Given the description of an element on the screen output the (x, y) to click on. 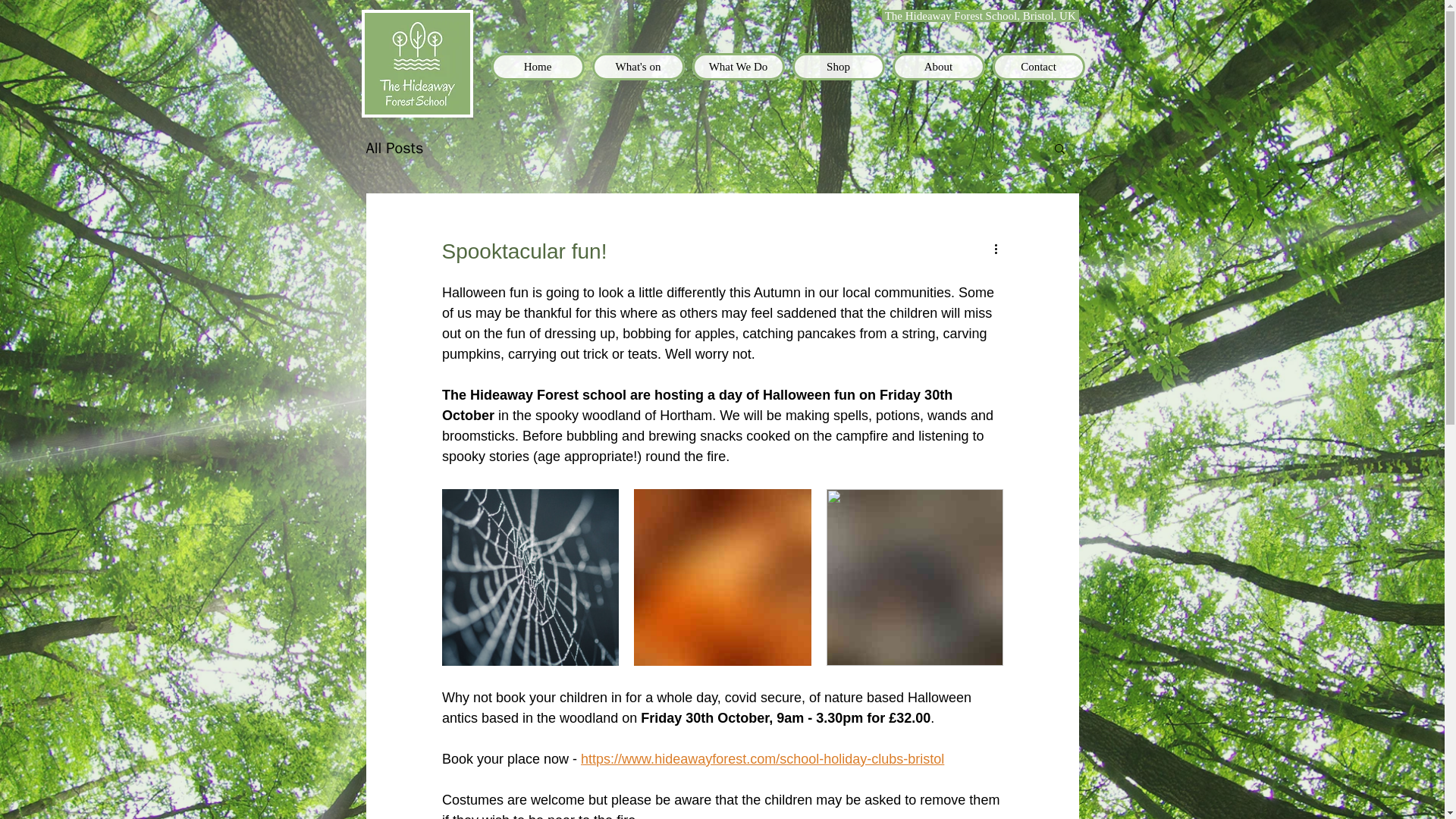
Shop (837, 66)
All Posts (394, 148)
Contact (1037, 66)
Home (538, 66)
